Given the description of an element on the screen output the (x, y) to click on. 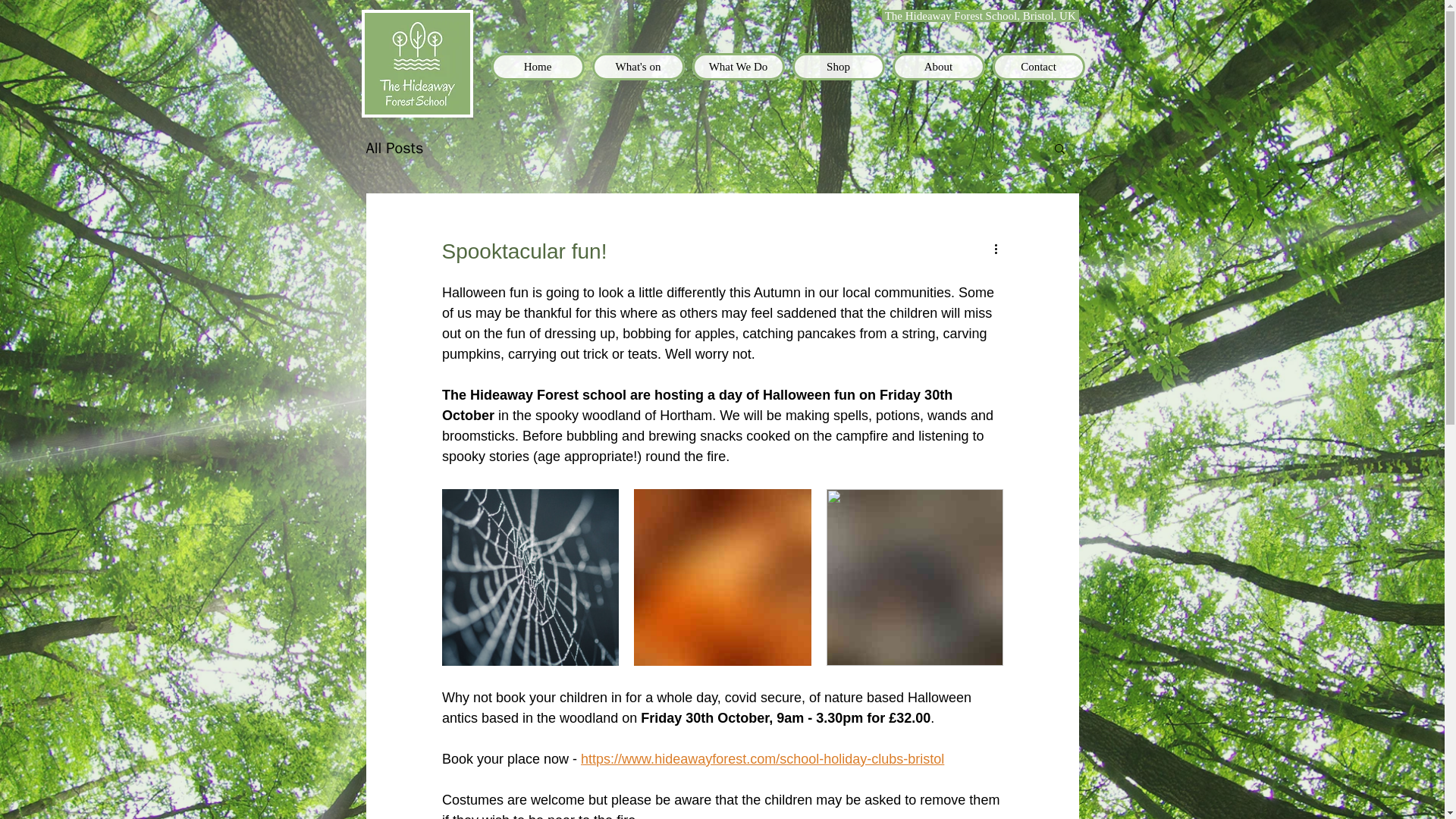
Shop (837, 66)
All Posts (394, 148)
Contact (1037, 66)
Home (538, 66)
